Given the description of an element on the screen output the (x, y) to click on. 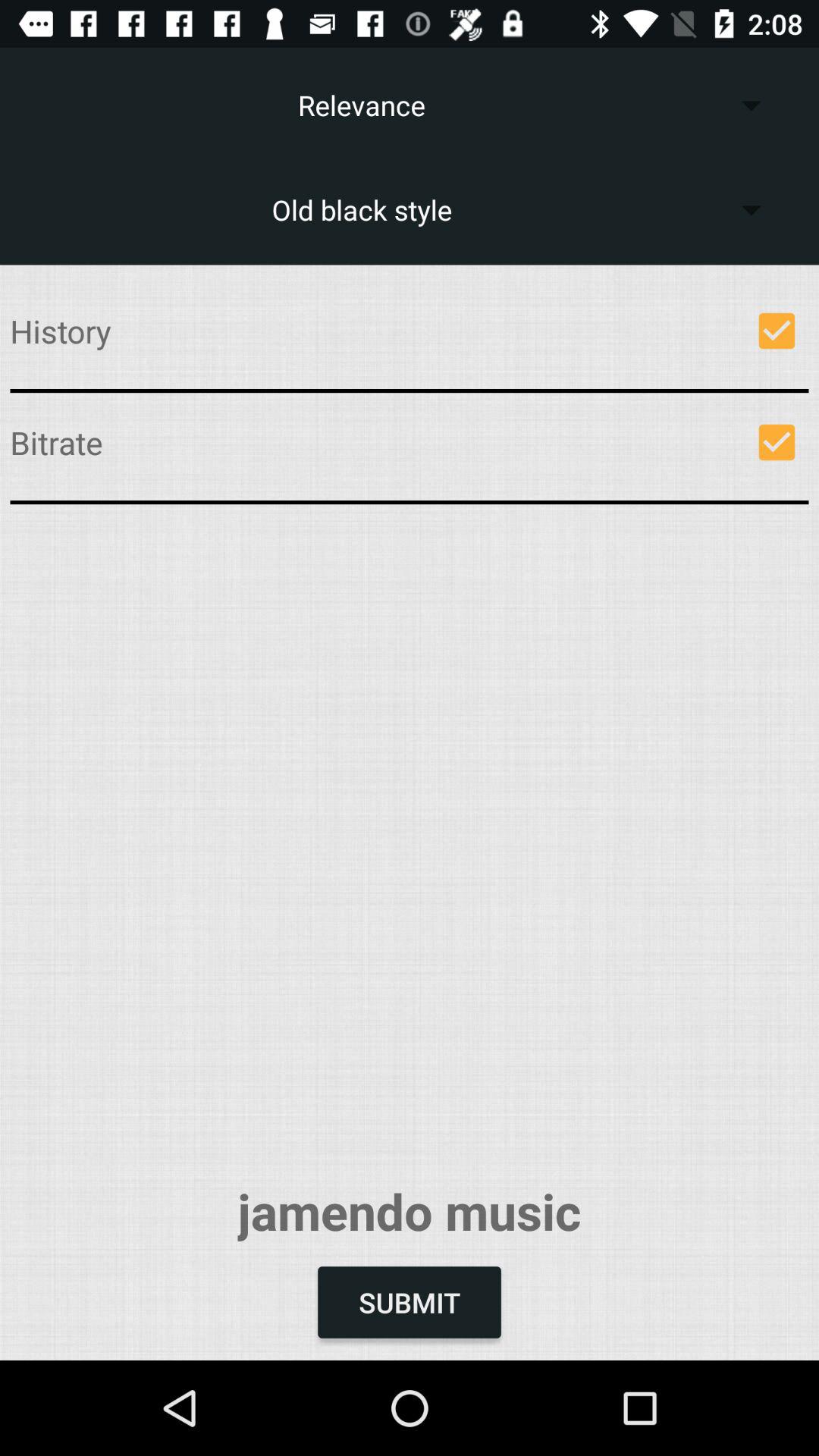
choose the item to the right of the history item (776, 330)
